Given the description of an element on the screen output the (x, y) to click on. 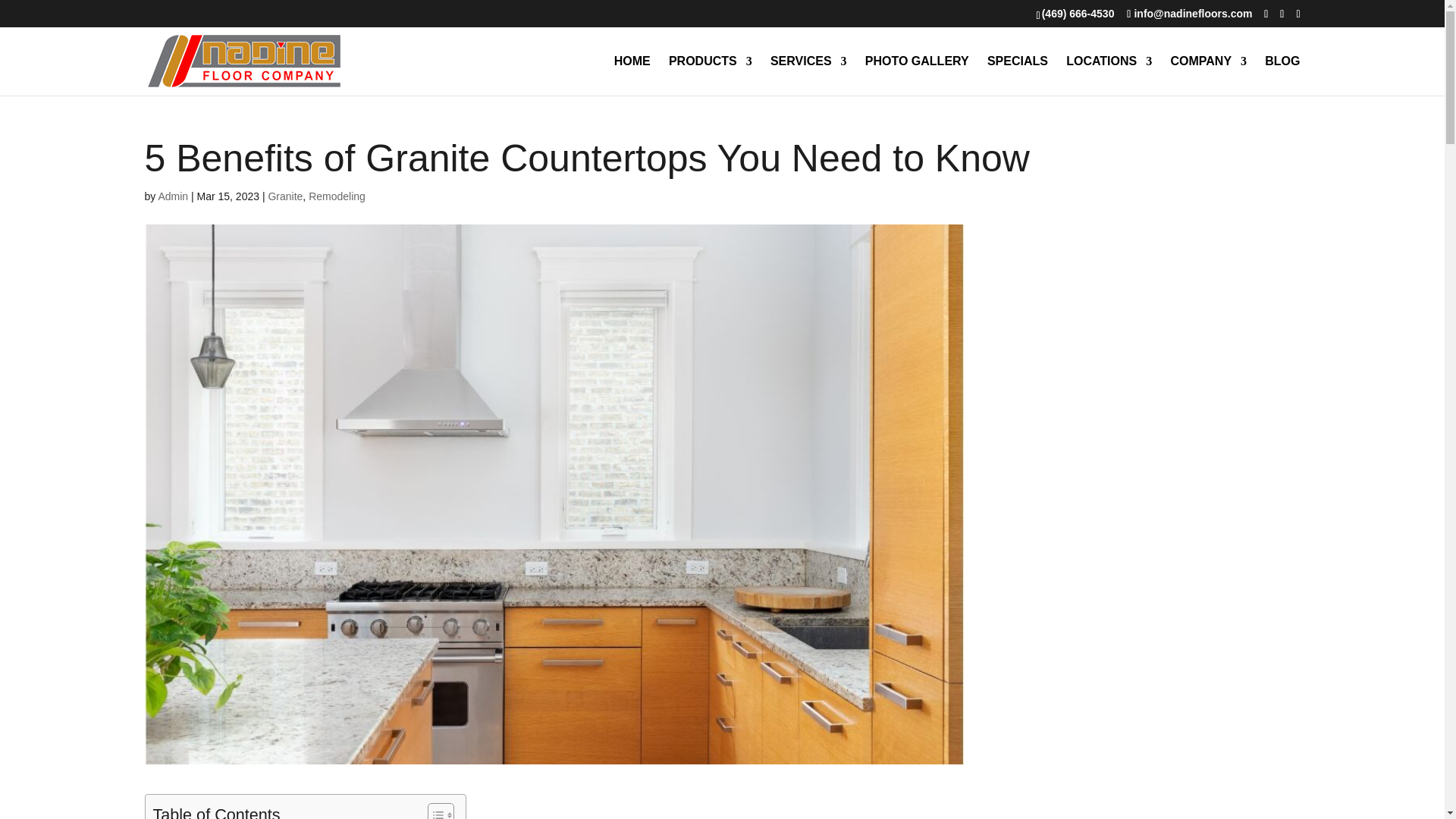
SPECIALS (1017, 75)
Posts by Admin (172, 196)
COMPANY (1208, 75)
LOCATIONS (1108, 75)
HOME (632, 75)
SERVICES (808, 75)
PHOTO GALLERY (916, 75)
BLOG (1282, 75)
PRODUCTS (710, 75)
